Given the description of an element on the screen output the (x, y) to click on. 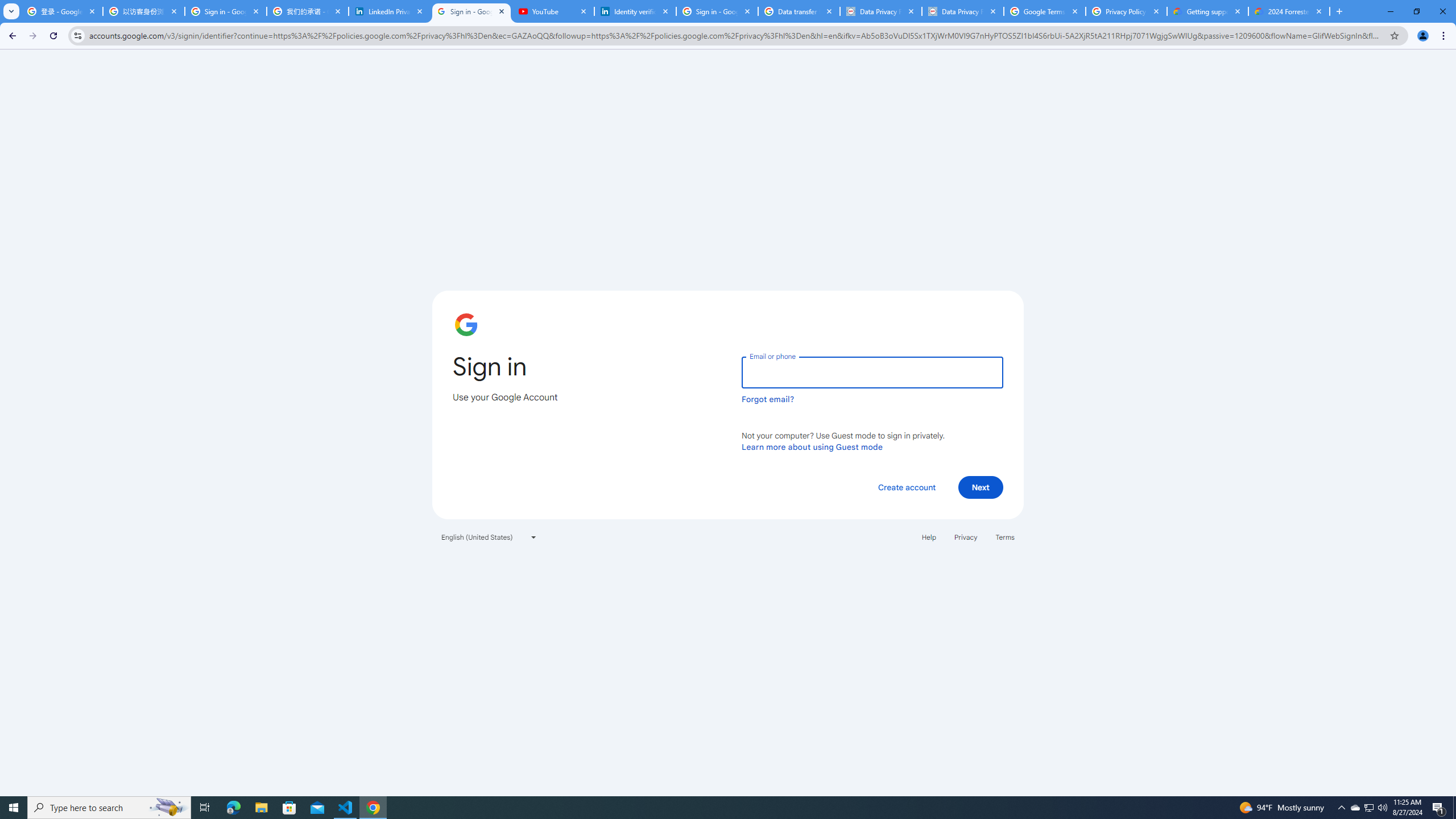
Email or phone (871, 372)
Privacy (965, 536)
Data Privacy Framework (963, 11)
Data Privacy Framework (880, 11)
English (United States) (489, 536)
